Given the description of an element on the screen output the (x, y) to click on. 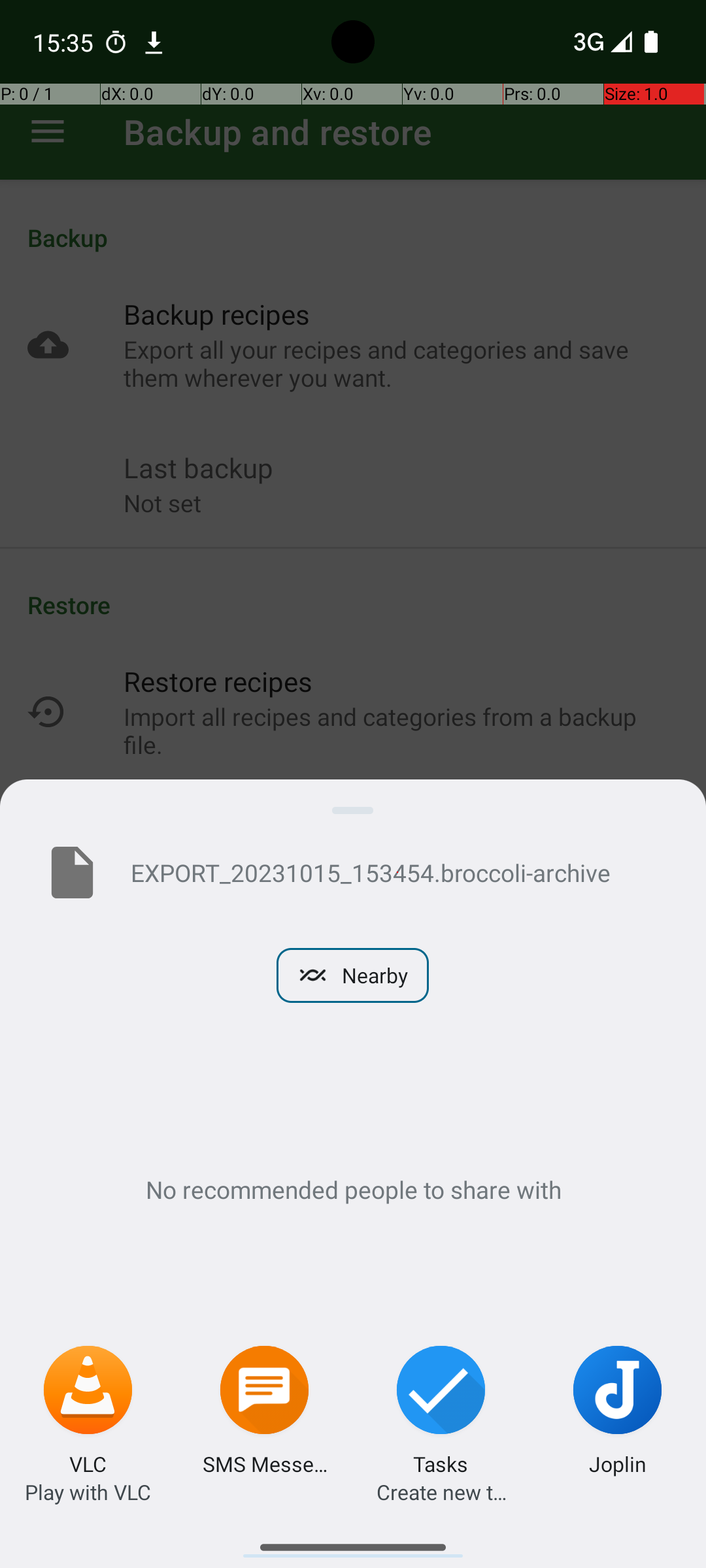
EXPORT_20231015_153454.broccoli-archive Element type: android.widget.TextView (397, 872)
